Given the description of an element on the screen output the (x, y) to click on. 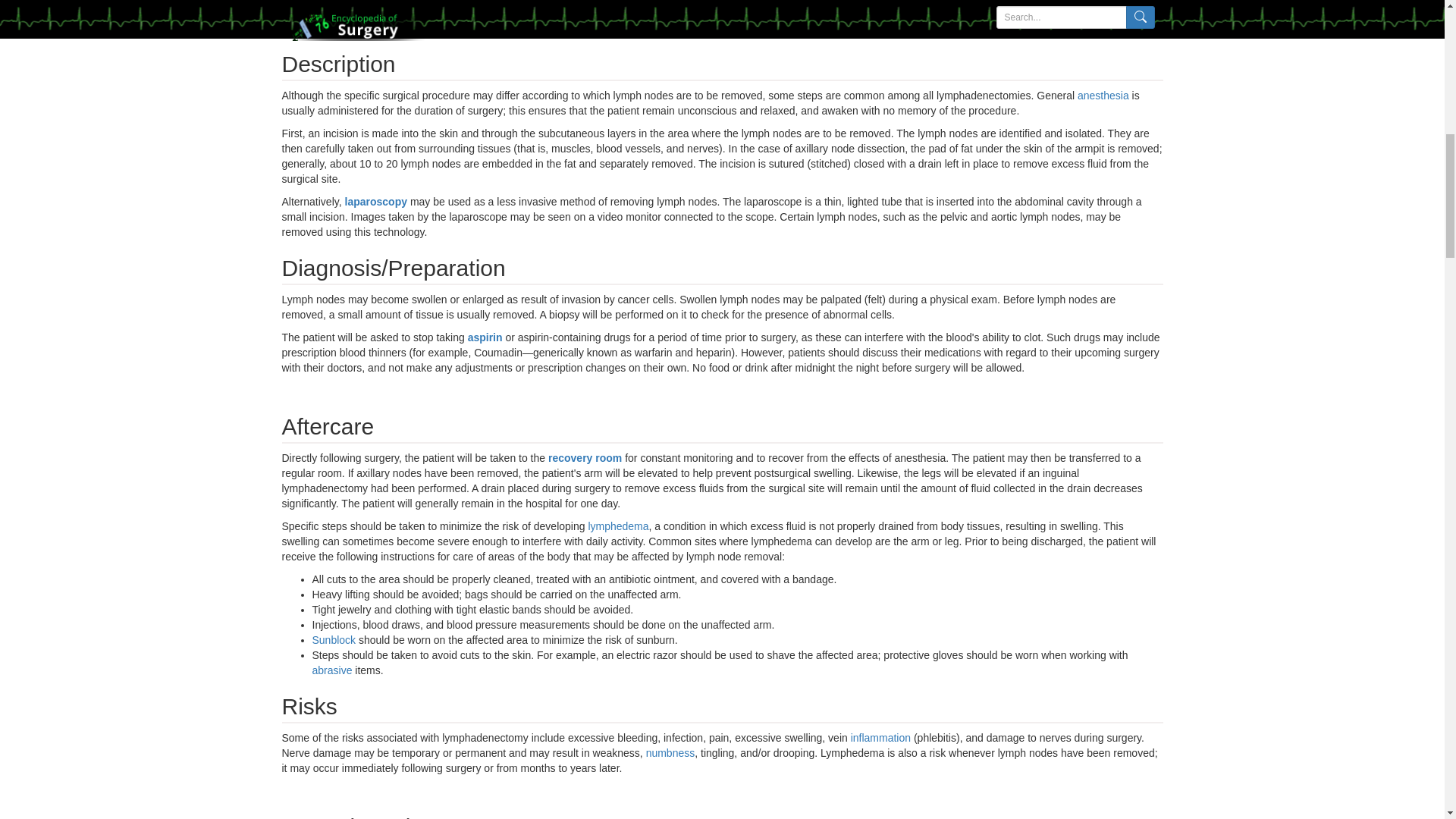
aspirin (486, 337)
Sunblock (334, 639)
laparoscopy (376, 201)
View 'abrasive' definition from Wikipedia (332, 670)
View 'lymphedema' definition from Wikipedia (617, 526)
View 'numbness' definition from Wikipedia (670, 752)
View 'anesthesia' definition from Wikipedia (1103, 95)
recovery room (586, 458)
lymphedema (617, 526)
View 'sunblock' definition from Wikipedia (334, 639)
